Given the description of an element on the screen output the (x, y) to click on. 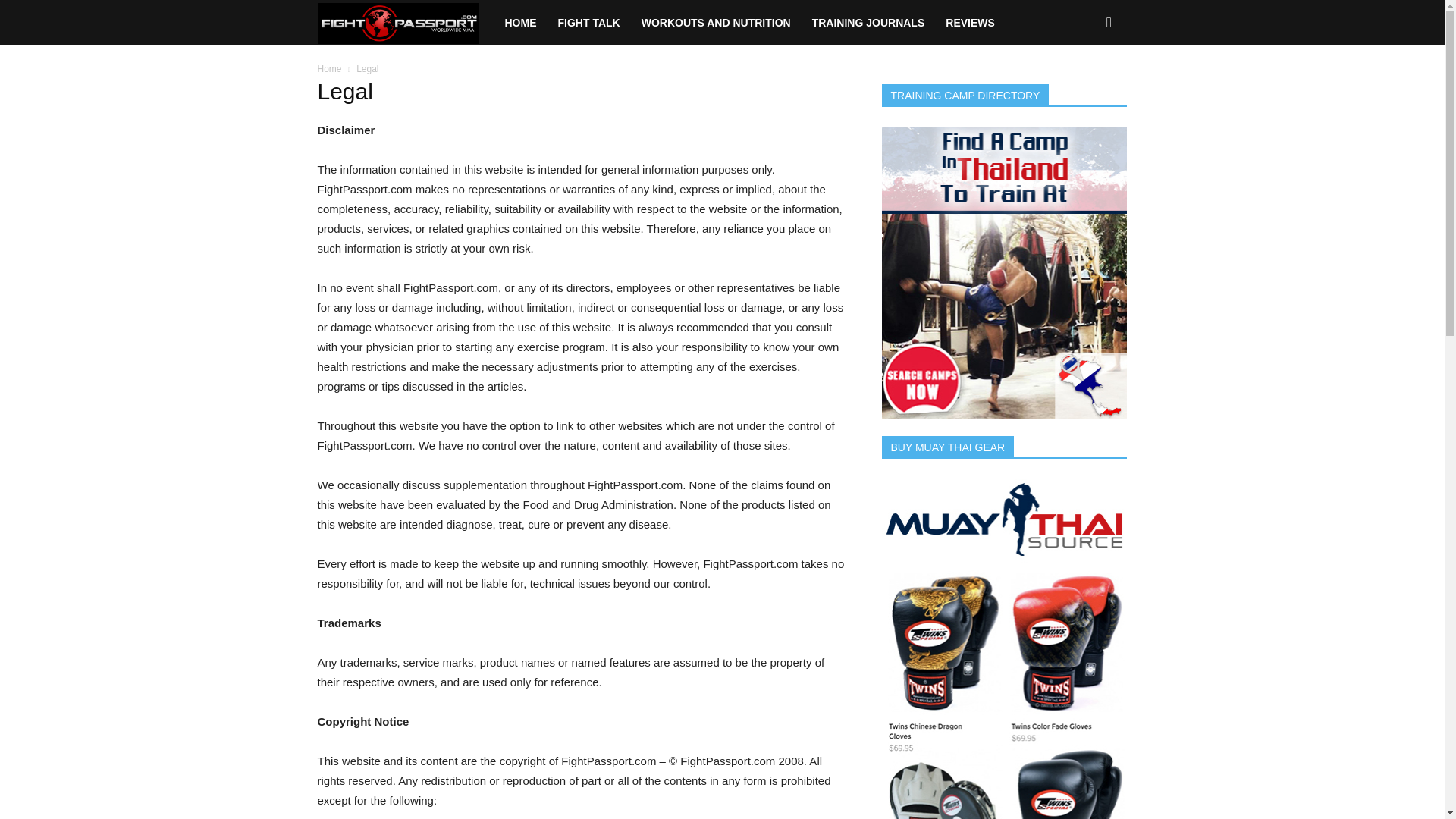
REVIEWS (970, 22)
TRAINING JOURNALS (869, 22)
Home (328, 68)
Fight Passport (405, 22)
FIGHT TALK (588, 22)
WORKOUTS AND NUTRITION (716, 22)
HOME (521, 22)
